Given the description of an element on the screen output the (x, y) to click on. 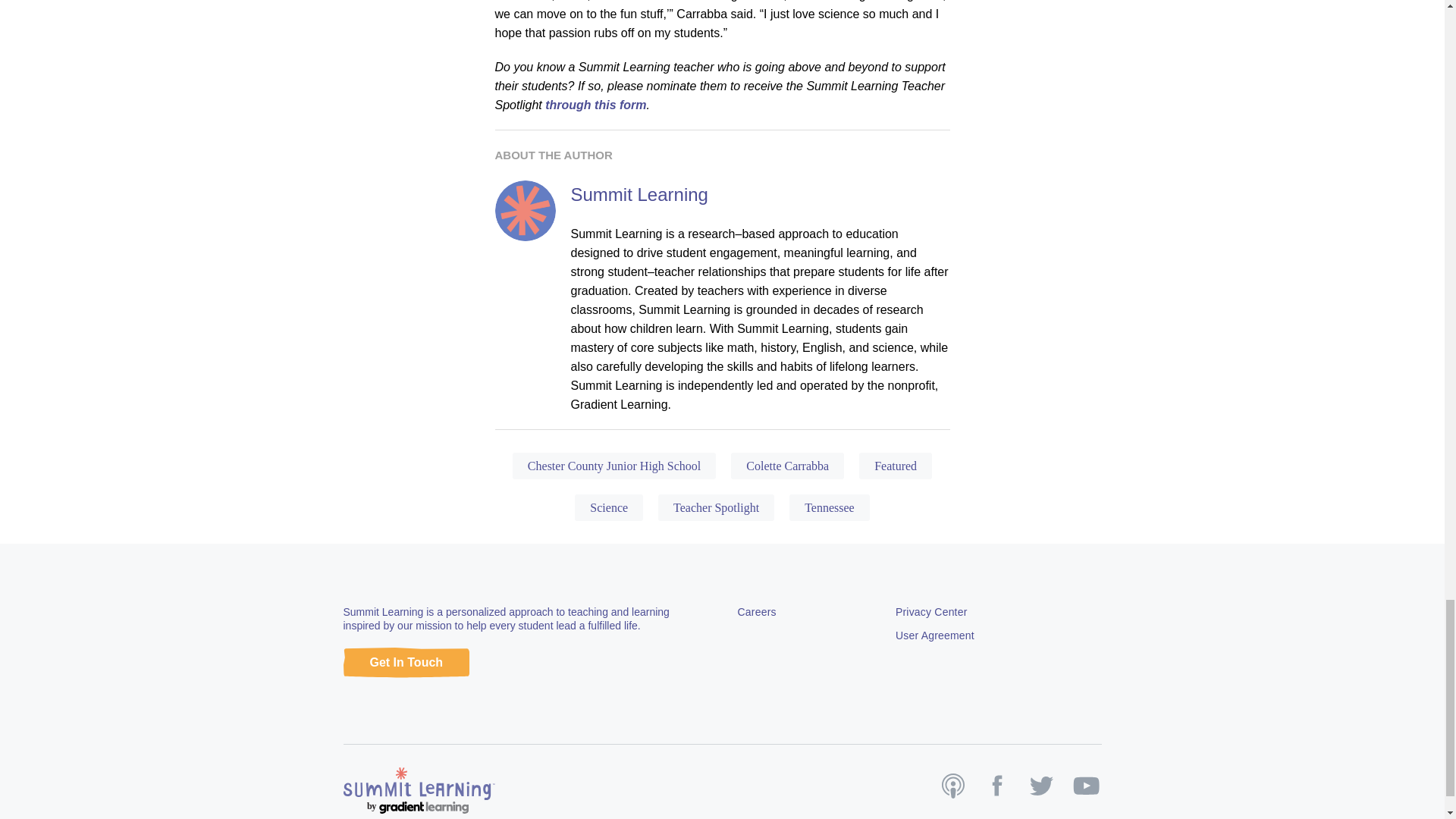
Chester County Junior High School (614, 465)
Summit Learning (638, 194)
Get In Touch (405, 662)
Teacher Spotlight (716, 507)
Featured (895, 465)
Privacy Center (931, 612)
through this form (595, 104)
Careers (756, 612)
Tennessee (829, 507)
Colette Carrabba (787, 465)
Science (609, 507)
